Given the description of an element on the screen output the (x, y) to click on. 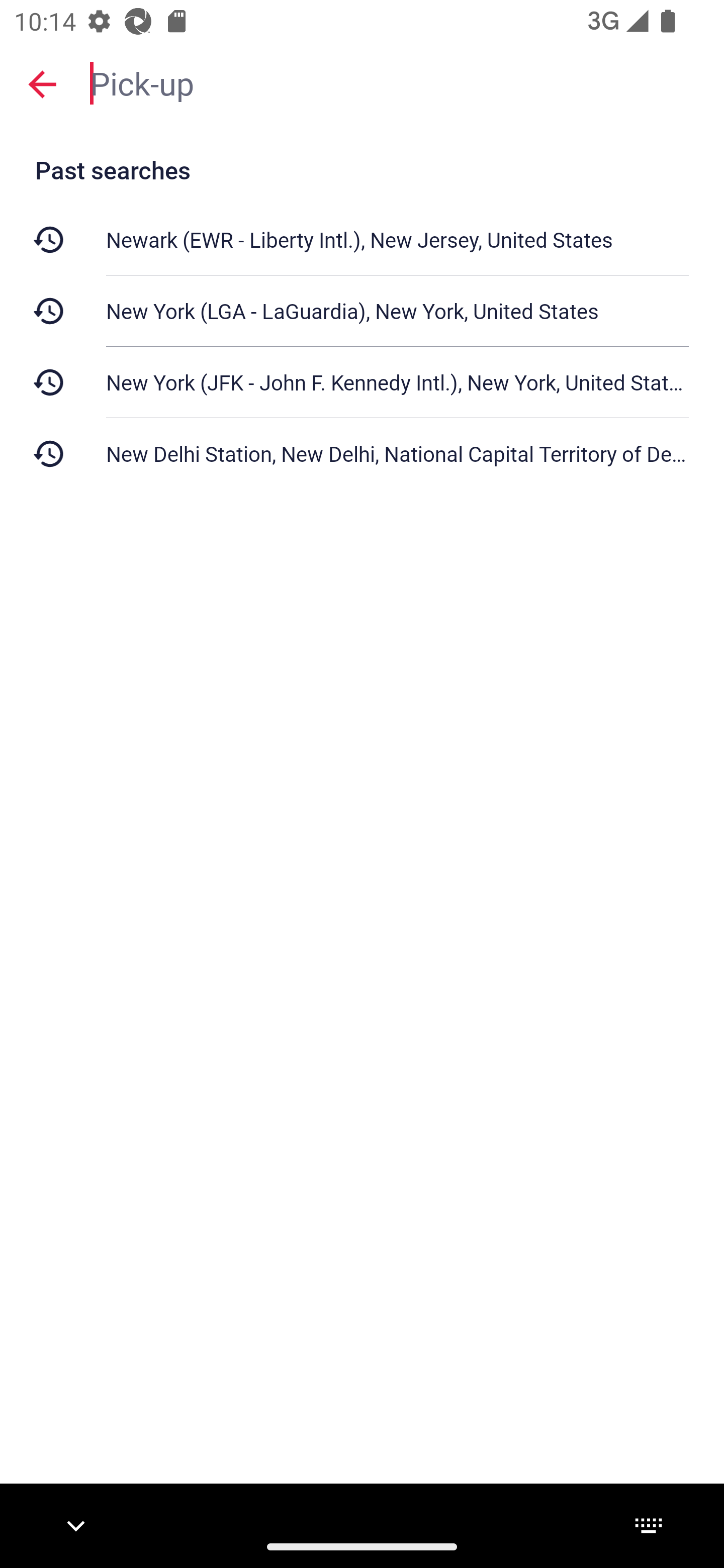
Pick-up,  (397, 82)
Close search screen (41, 83)
